Given the description of an element on the screen output the (x, y) to click on. 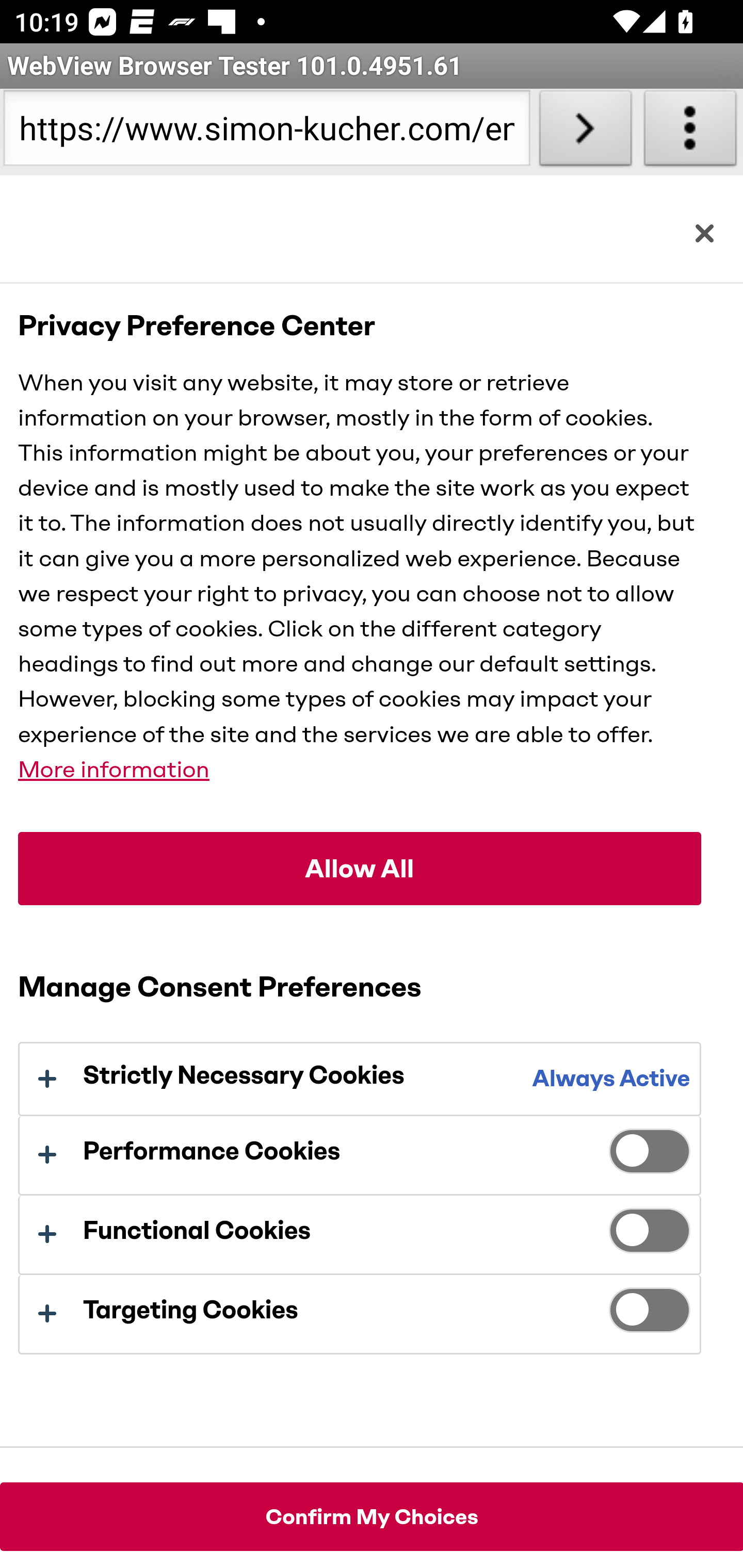
Load URL (585, 132)
About WebView (690, 132)
